Given the description of an element on the screen output the (x, y) to click on. 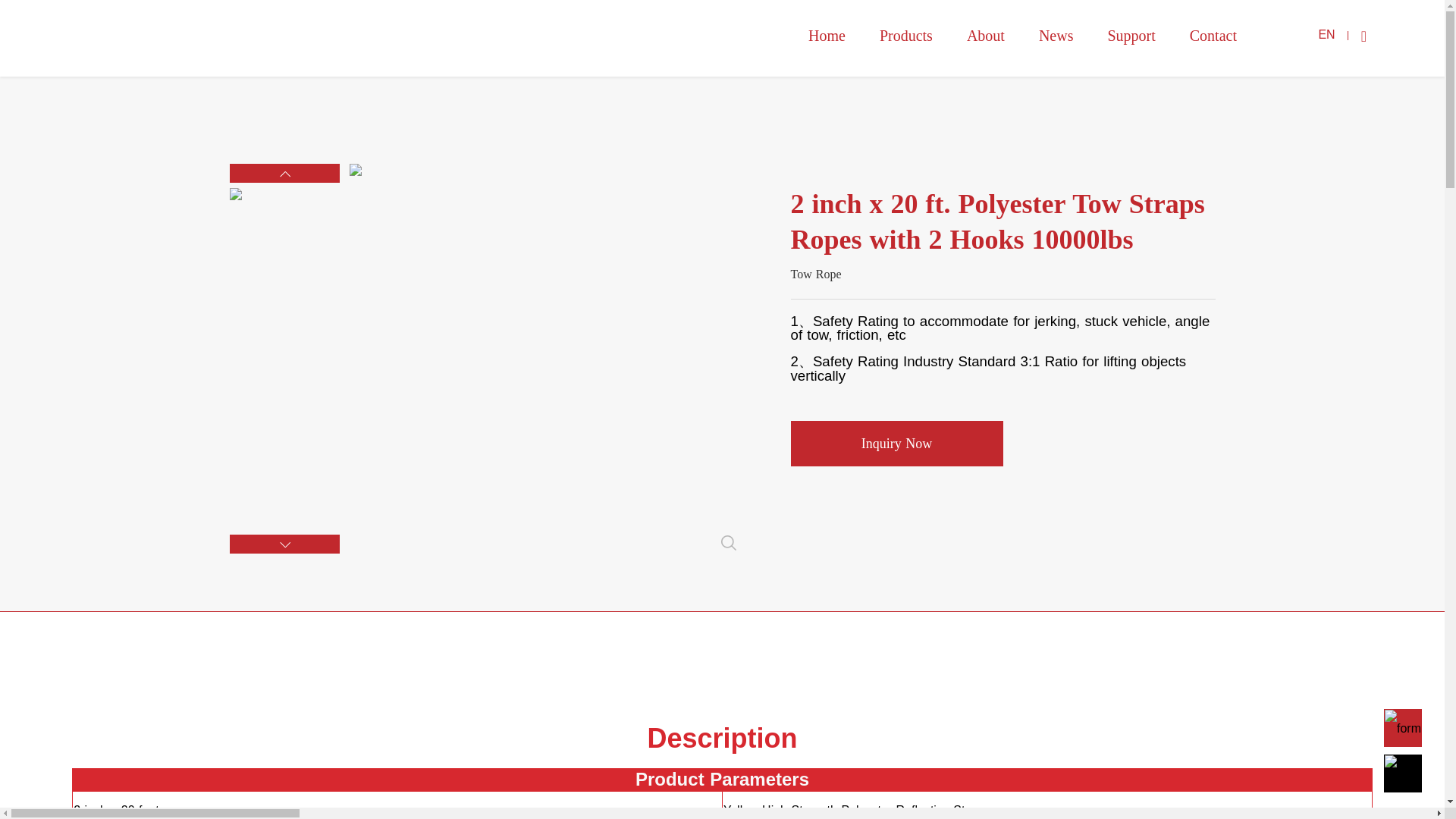
About (985, 35)
Products (906, 35)
Support (1130, 35)
Home (826, 35)
form (1402, 774)
form (1402, 728)
News (1056, 35)
Contact (1212, 35)
